Given the description of an element on the screen output the (x, y) to click on. 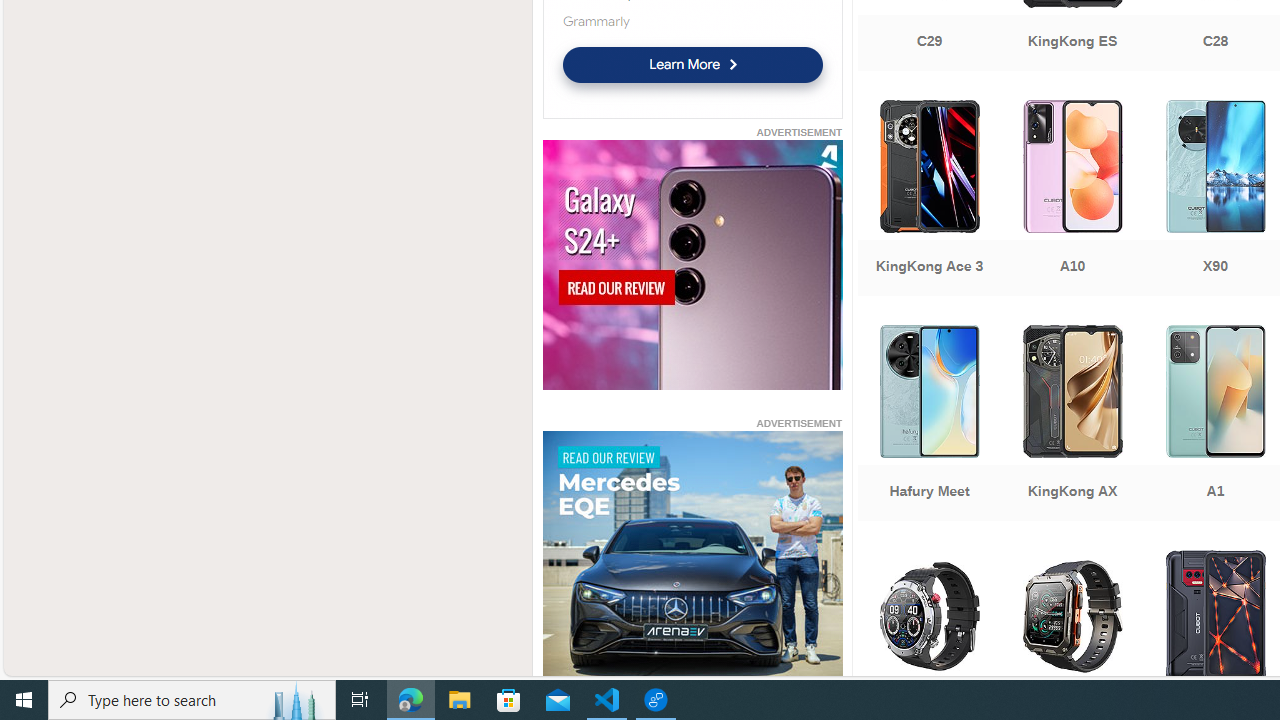
To get missing image descriptions, open the context menu. (692, 556)
Hafury Meet (928, 425)
A10 (1072, 200)
Grammarly (595, 21)
KingKong Ace 3 (928, 200)
Learn More (692, 64)
